Given the description of an element on the screen output the (x, y) to click on. 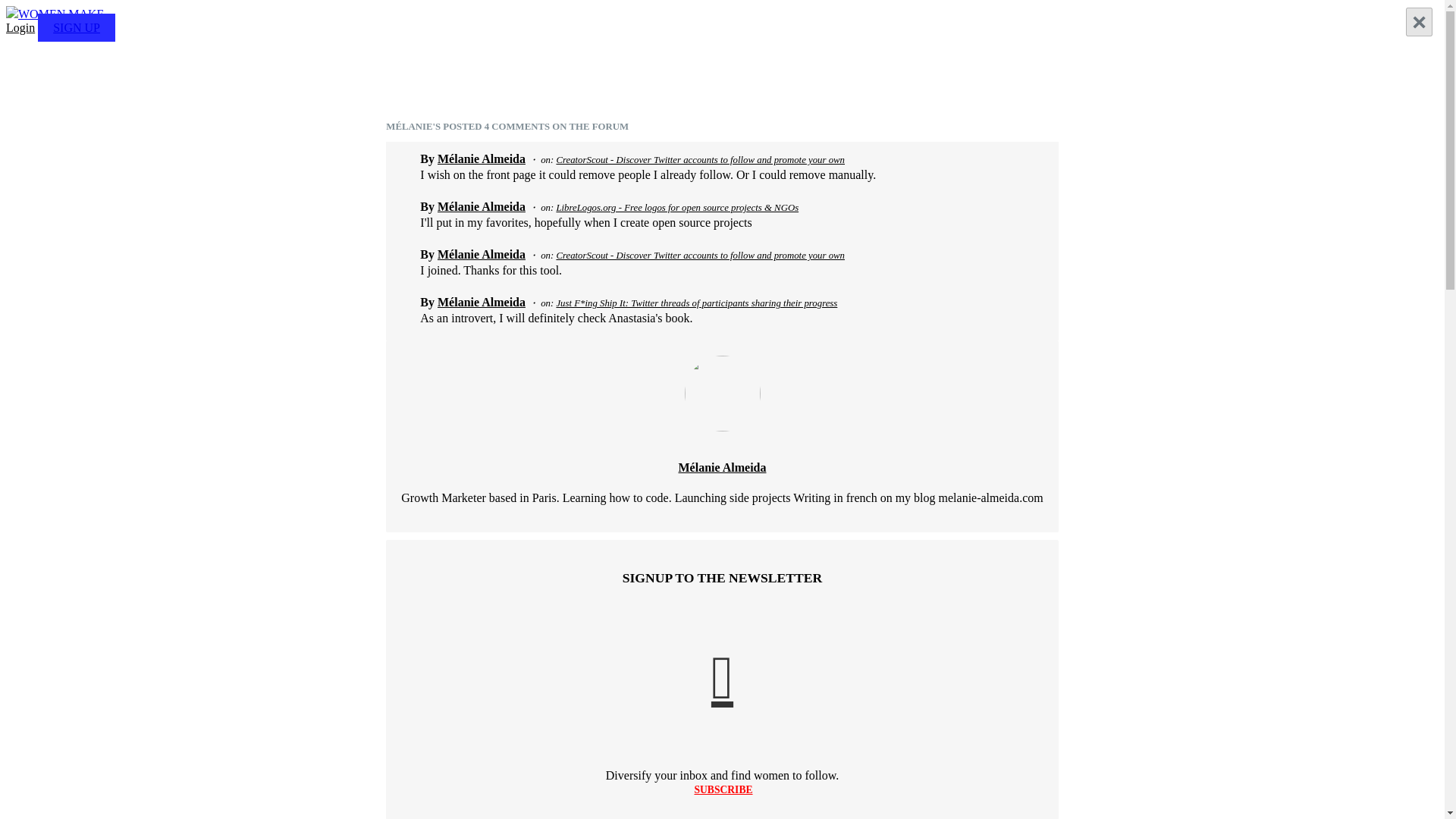
SIGN UP (76, 27)
Login (19, 27)
Login (19, 27)
SUBSCRIBE (723, 789)
SIGN UP (76, 27)
